Given the description of an element on the screen output the (x, y) to click on. 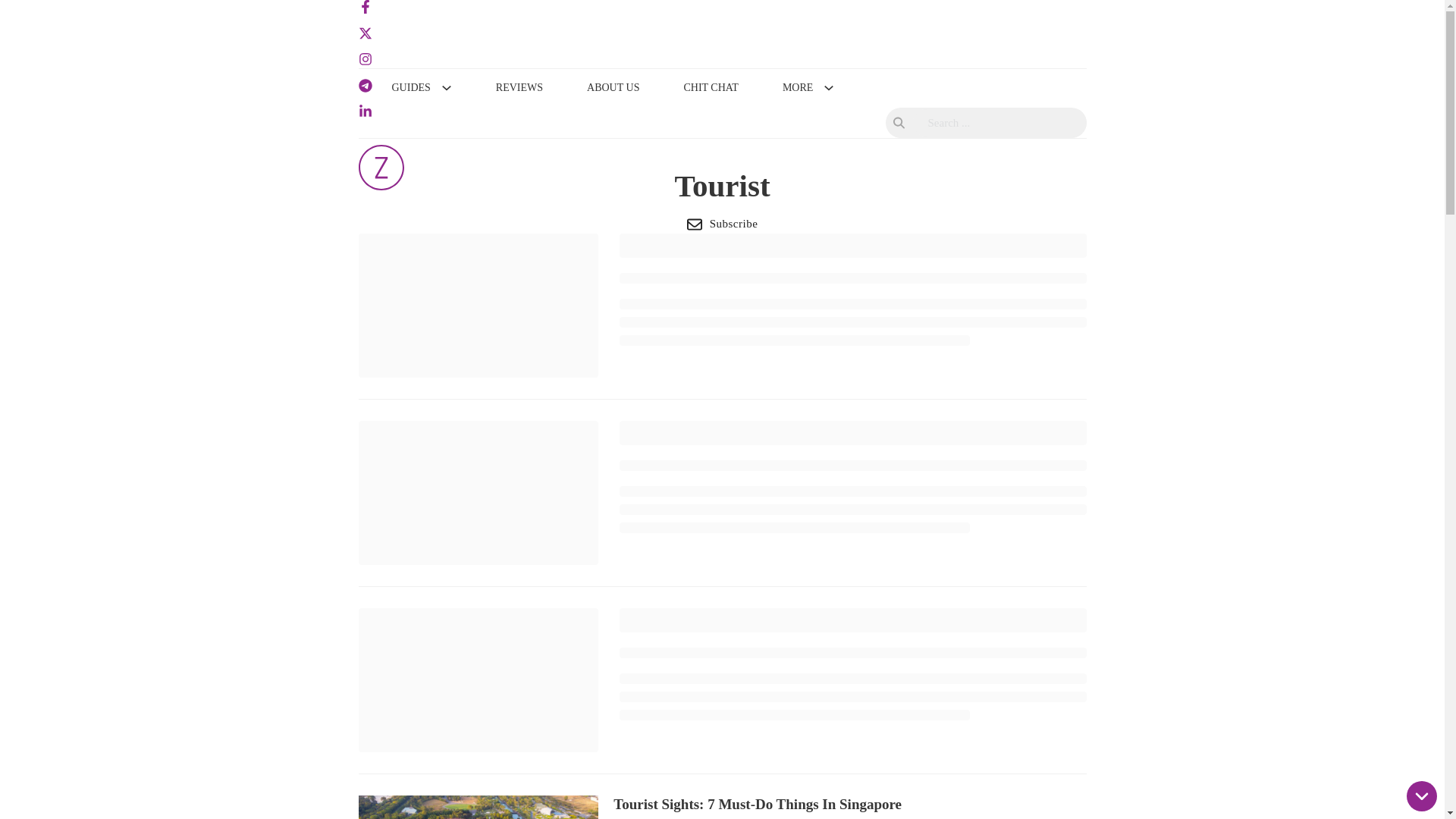
REVIEWS (518, 87)
MORE (797, 87)
GUIDES (410, 87)
CHIT CHAT (710, 87)
Subscribe (722, 223)
ABOUT US (612, 87)
